Given the description of an element on the screen output the (x, y) to click on. 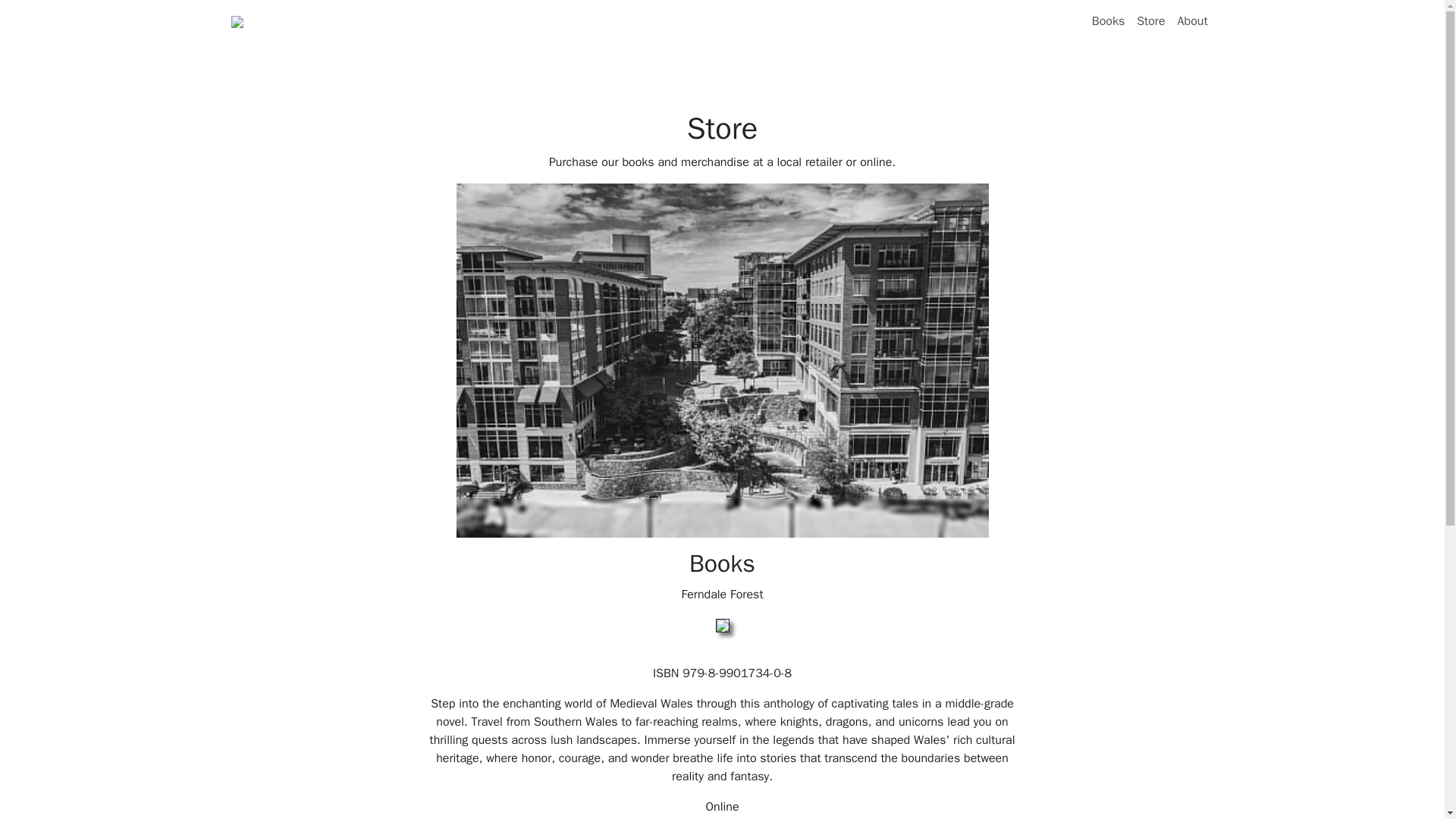
About (1193, 20)
Books (1108, 20)
Store (1150, 20)
